Given the description of an element on the screen output the (x, y) to click on. 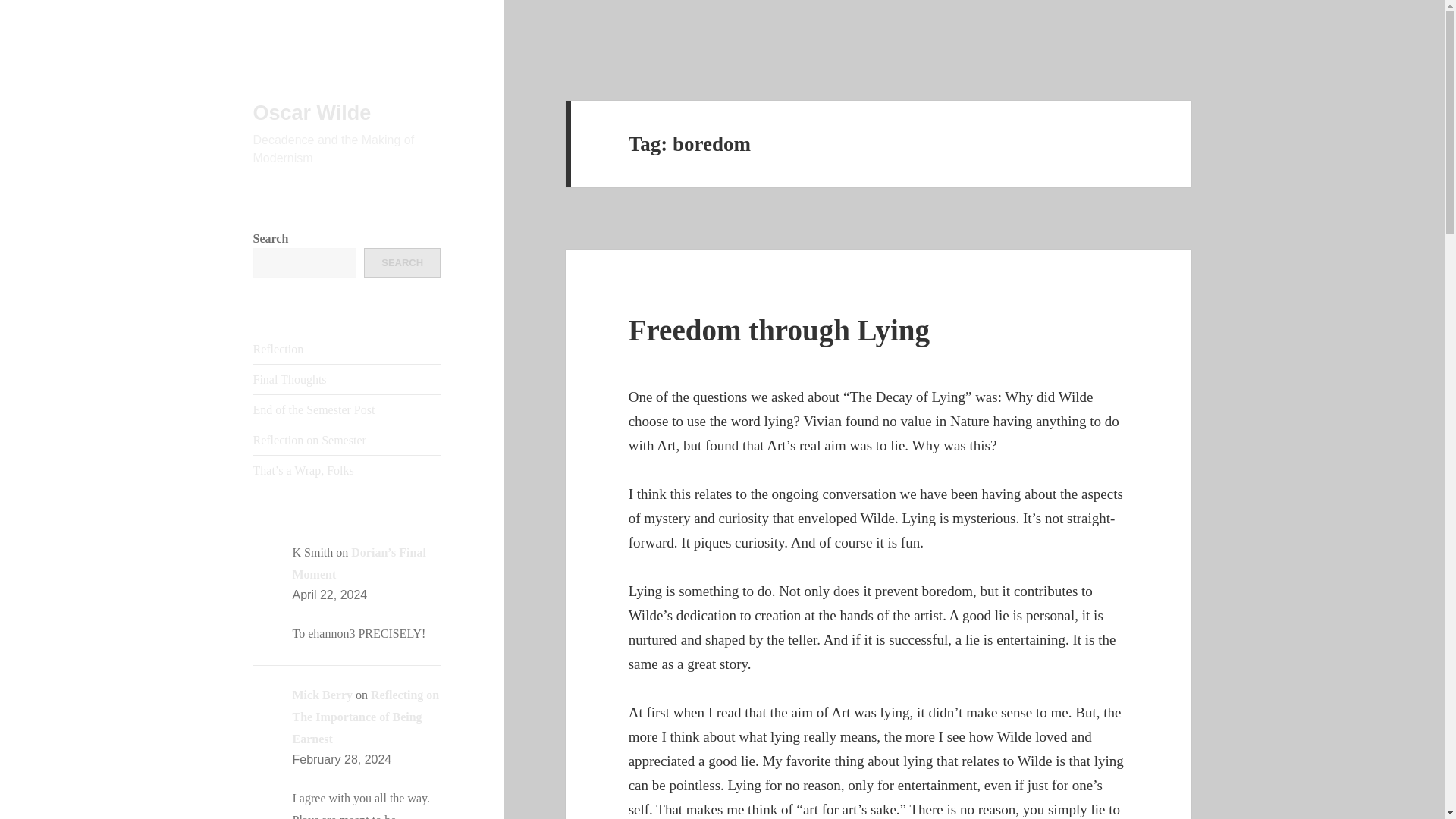
Mick Berry (322, 694)
Final Thoughts (289, 379)
Reflection on Semester (309, 440)
Reflection (278, 349)
Oscar Wilde (312, 112)
SEARCH (402, 262)
Reflecting on The Importance of Being Earnest (365, 716)
End of the Semester Post (314, 409)
